Given the description of an element on the screen output the (x, y) to click on. 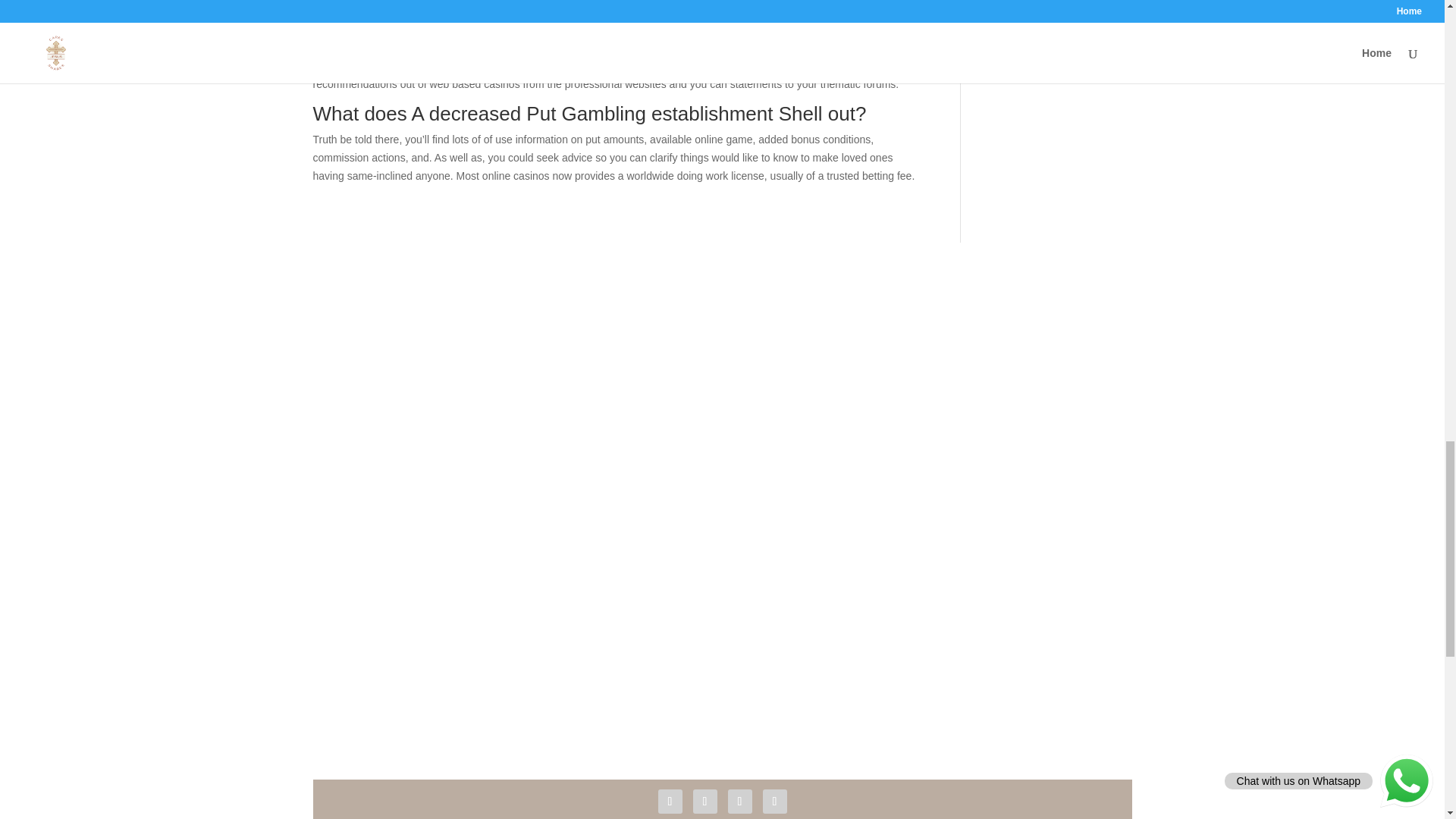
Follow on Facebook (670, 801)
Follow on Youtube (740, 801)
Follow on Twitter (705, 801)
Follow on Instagram (774, 801)
